Given the description of an element on the screen output the (x, y) to click on. 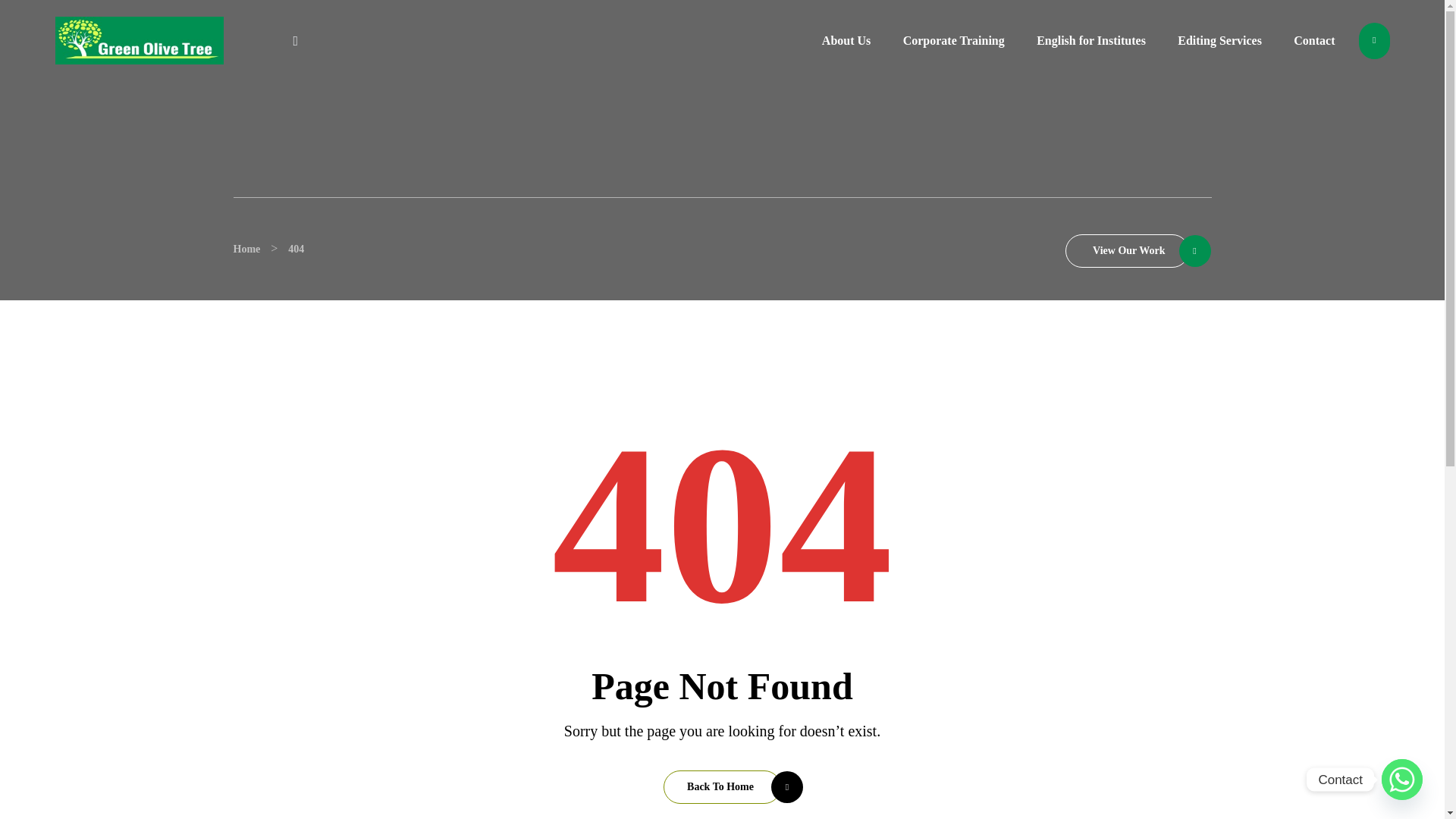
404 (296, 248)
About Us (846, 40)
Contact (1314, 40)
View Our Work (1126, 250)
Go to 404. (296, 248)
English for Institutes (1091, 40)
Editing Services (1219, 40)
Go to Home. (246, 248)
Home (246, 248)
Back To Home (721, 786)
Corporate Training (953, 40)
